Given the description of an element on the screen output the (x, y) to click on. 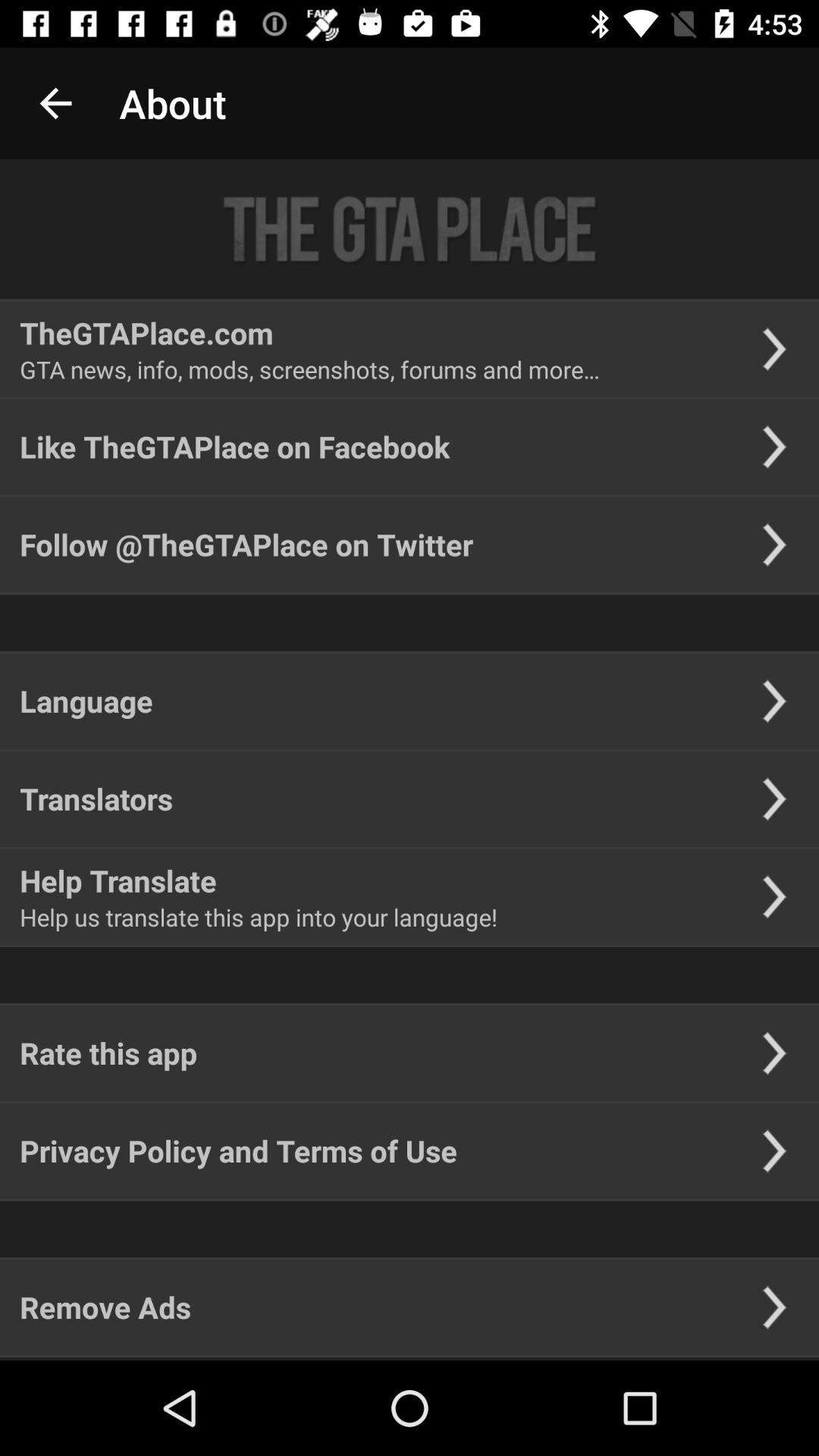
choose the item above the remove ads icon (238, 1150)
